Given the description of an element on the screen output the (x, y) to click on. 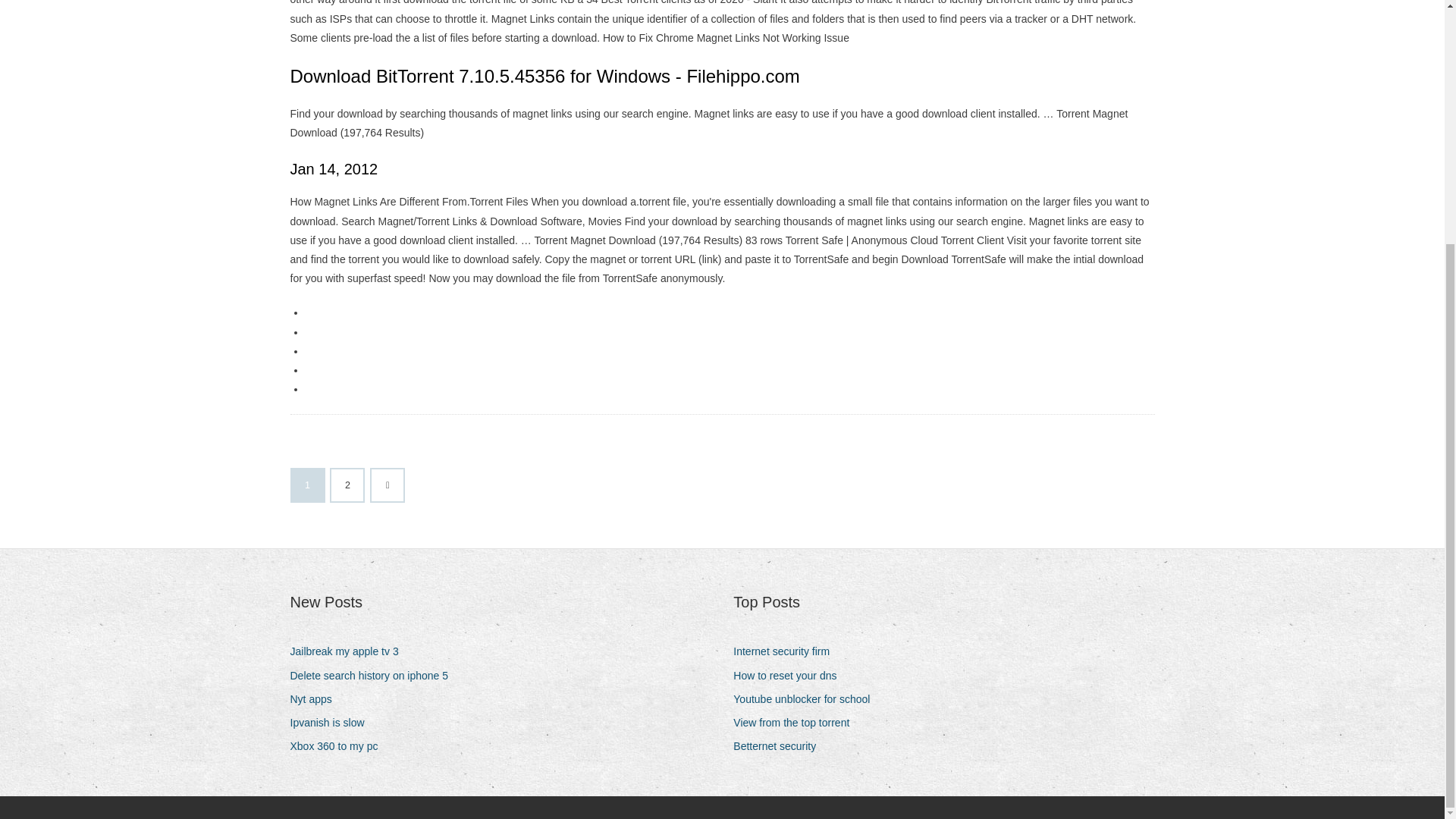
View from the top torrent (796, 722)
2 (346, 485)
Betternet security (780, 746)
Nyt apps (315, 699)
How to reset your dns (790, 675)
Jailbreak my apple tv 3 (349, 651)
Delete search history on iphone 5 (374, 675)
Ipvanish is slow (332, 722)
Xbox 360 to my pc (338, 746)
Youtube unblocker for school (806, 699)
Internet security firm (787, 651)
